Given the description of an element on the screen output the (x, y) to click on. 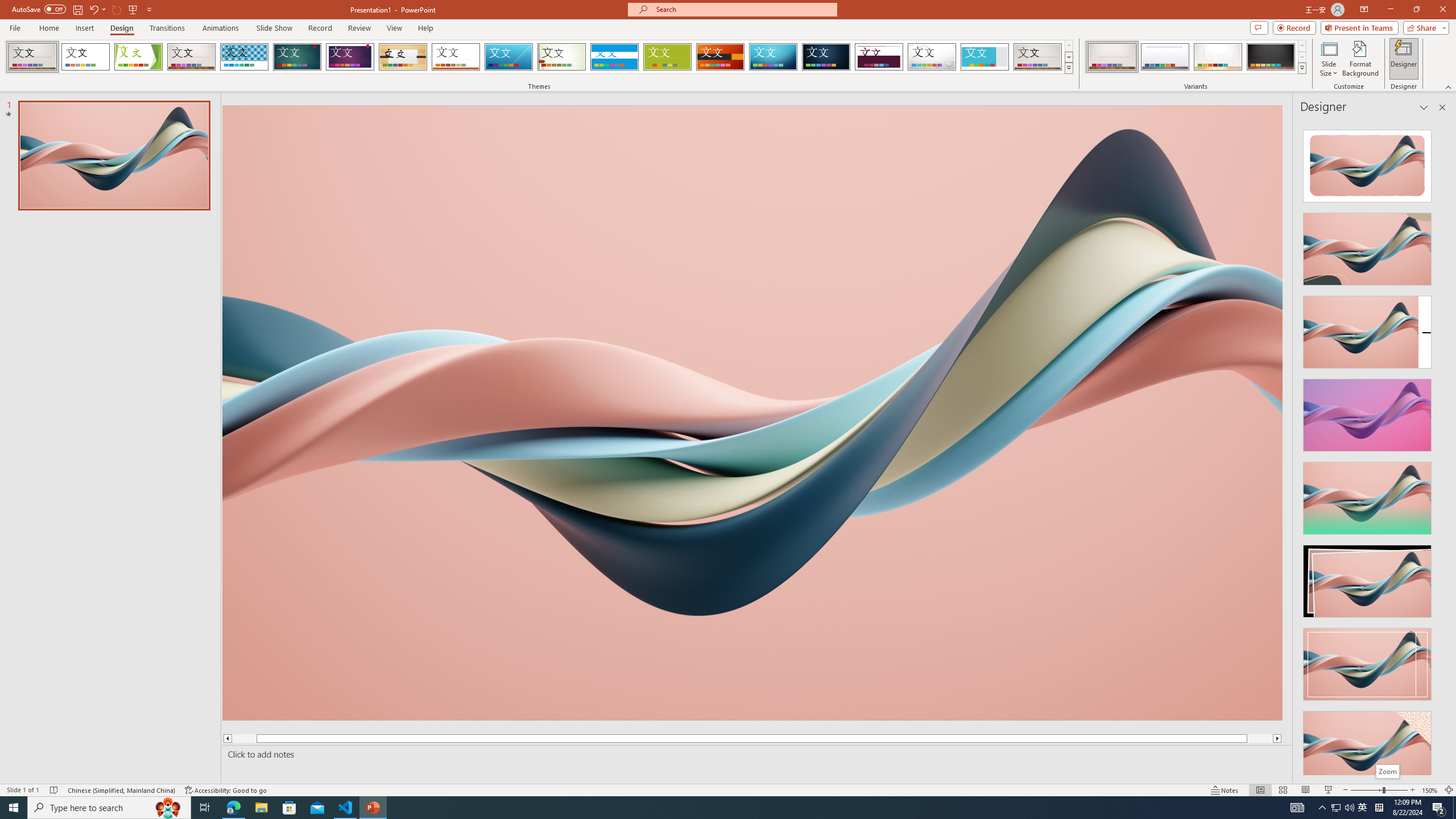
Dividend (879, 56)
Wisp (561, 56)
AutomationID: ThemeVariantsGallery (1195, 56)
Recommended Design: Design Idea (1366, 162)
Ion (296, 56)
Gallery Variant 4 (1270, 56)
